Given the description of an element on the screen output the (x, y) to click on. 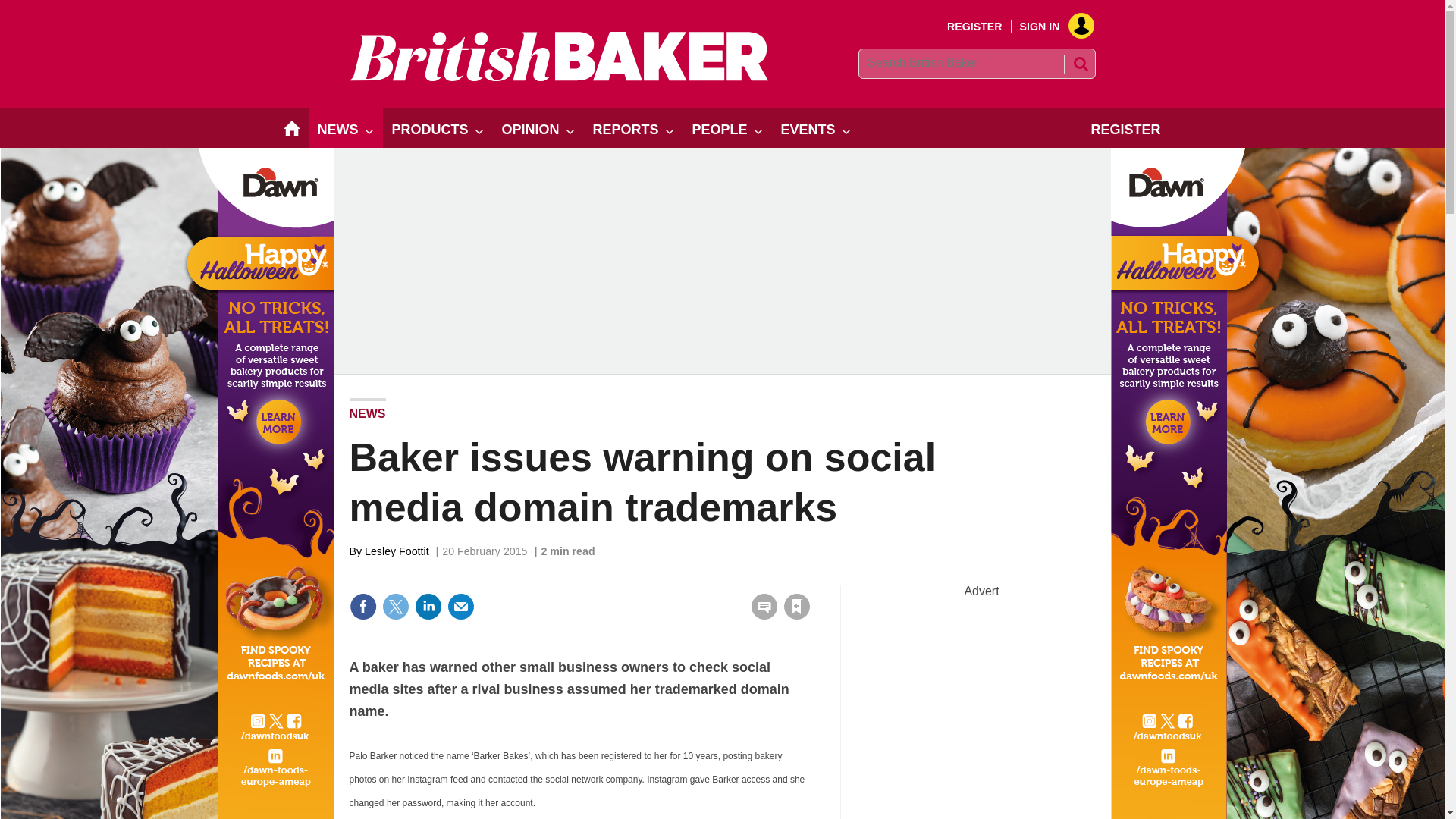
REGISTER (975, 26)
Share this on Linked in (427, 605)
Site name (558, 76)
Share this on Facebook (362, 605)
Email this article (460, 605)
3rd party ad content (980, 692)
SEARCH (1079, 63)
No comments (759, 615)
SIGN IN (1051, 26)
